Given the description of an element on the screen output the (x, y) to click on. 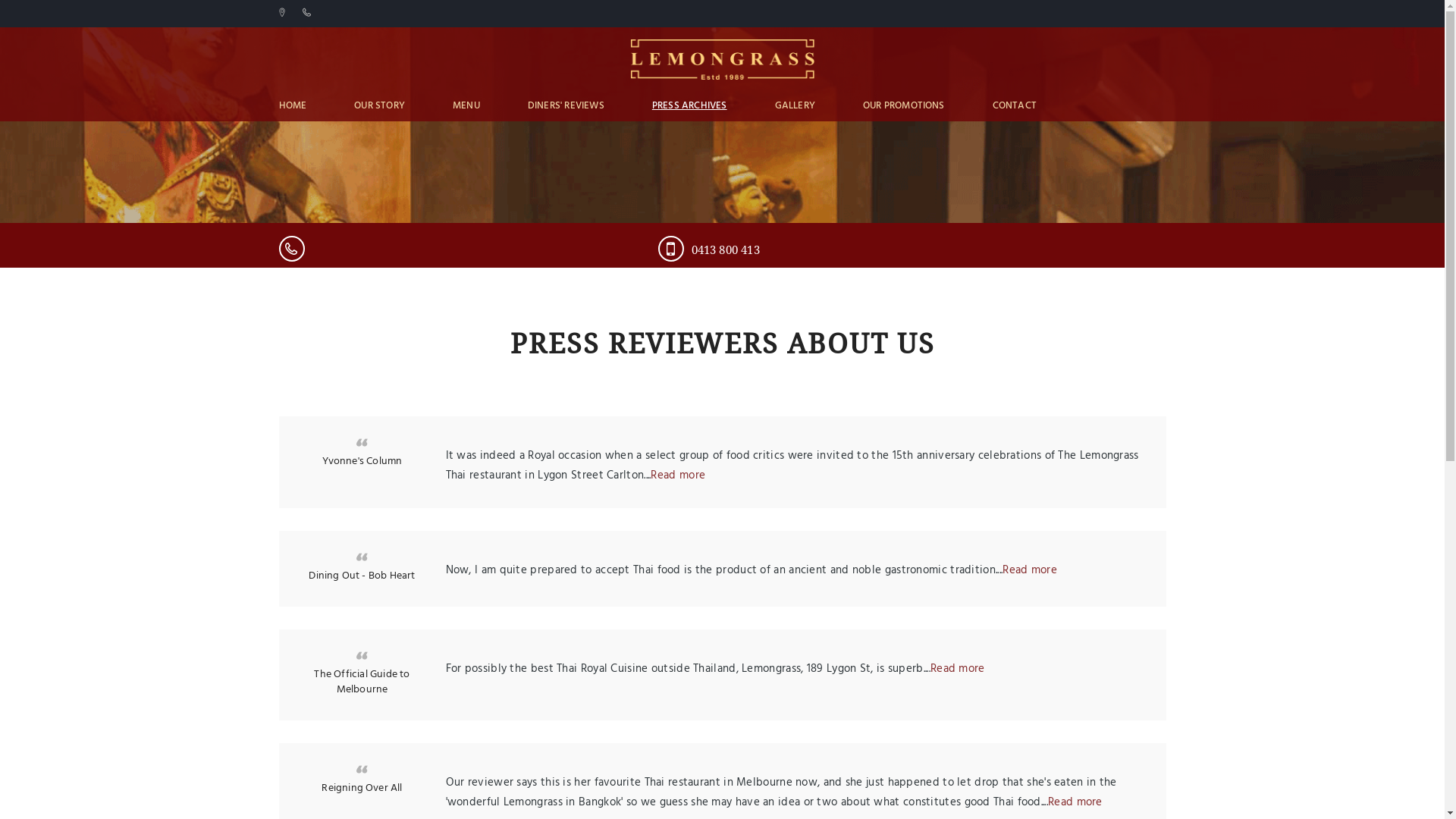
Read more Element type: text (957, 668)
MENU Element type: text (466, 106)
OUR STORY Element type: text (379, 106)
DINERS' REVIEWS Element type: text (565, 106)
0413 800 413 Element type: text (798, 250)
HOME Element type: text (293, 106)
OUR PROMOTIONS Element type: text (903, 106)
CONTACT Element type: text (1014, 106)
GALLERY Element type: text (795, 106)
Read more Element type: text (1029, 570)
PRESS ARCHIVES Element type: text (689, 106)
Read more Element type: text (1075, 802)
Read more Element type: text (677, 475)
